Given the description of an element on the screen output the (x, y) to click on. 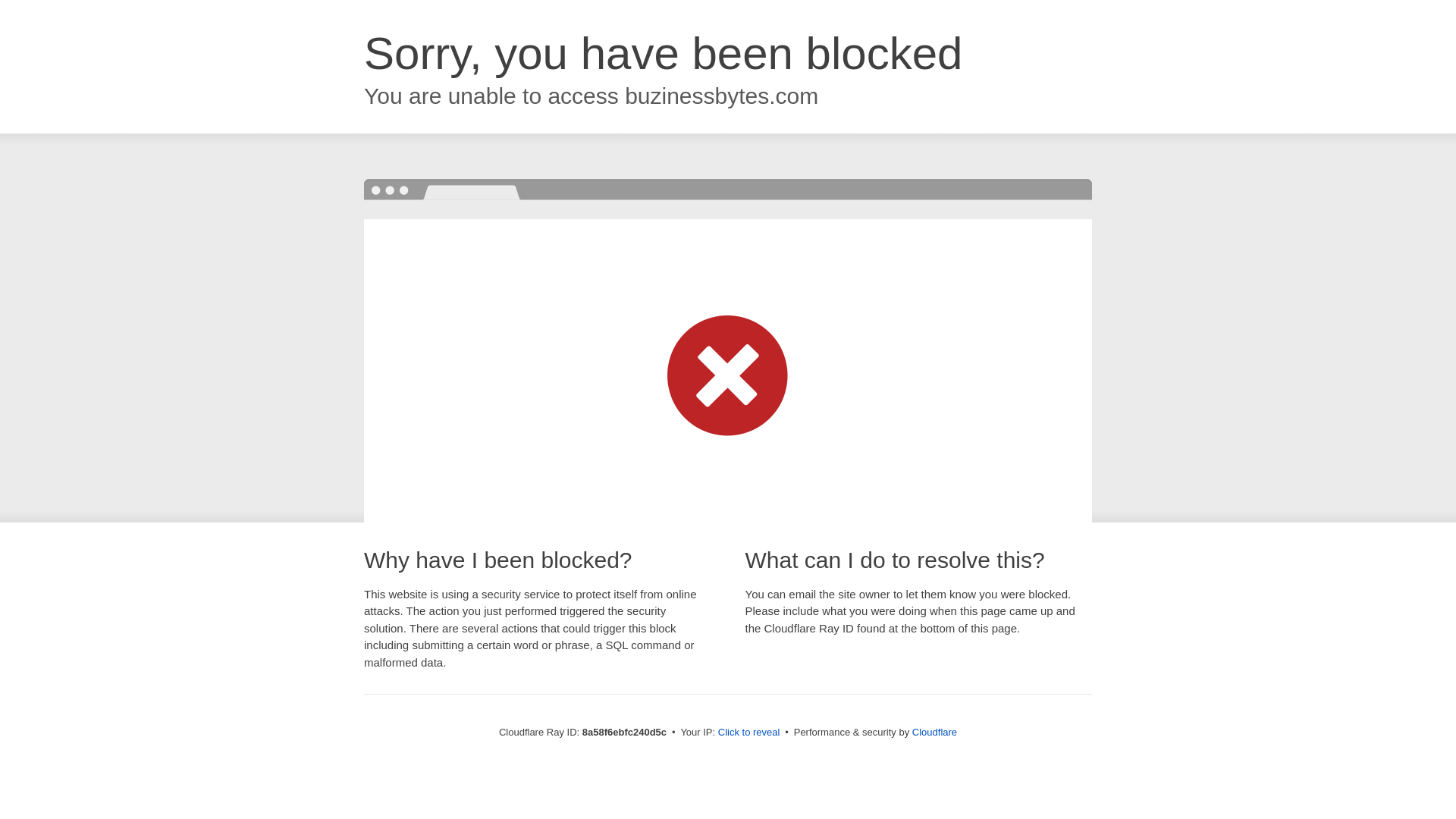
Cloudflare (934, 731)
Click to reveal (748, 732)
